Given the description of an element on the screen output the (x, y) to click on. 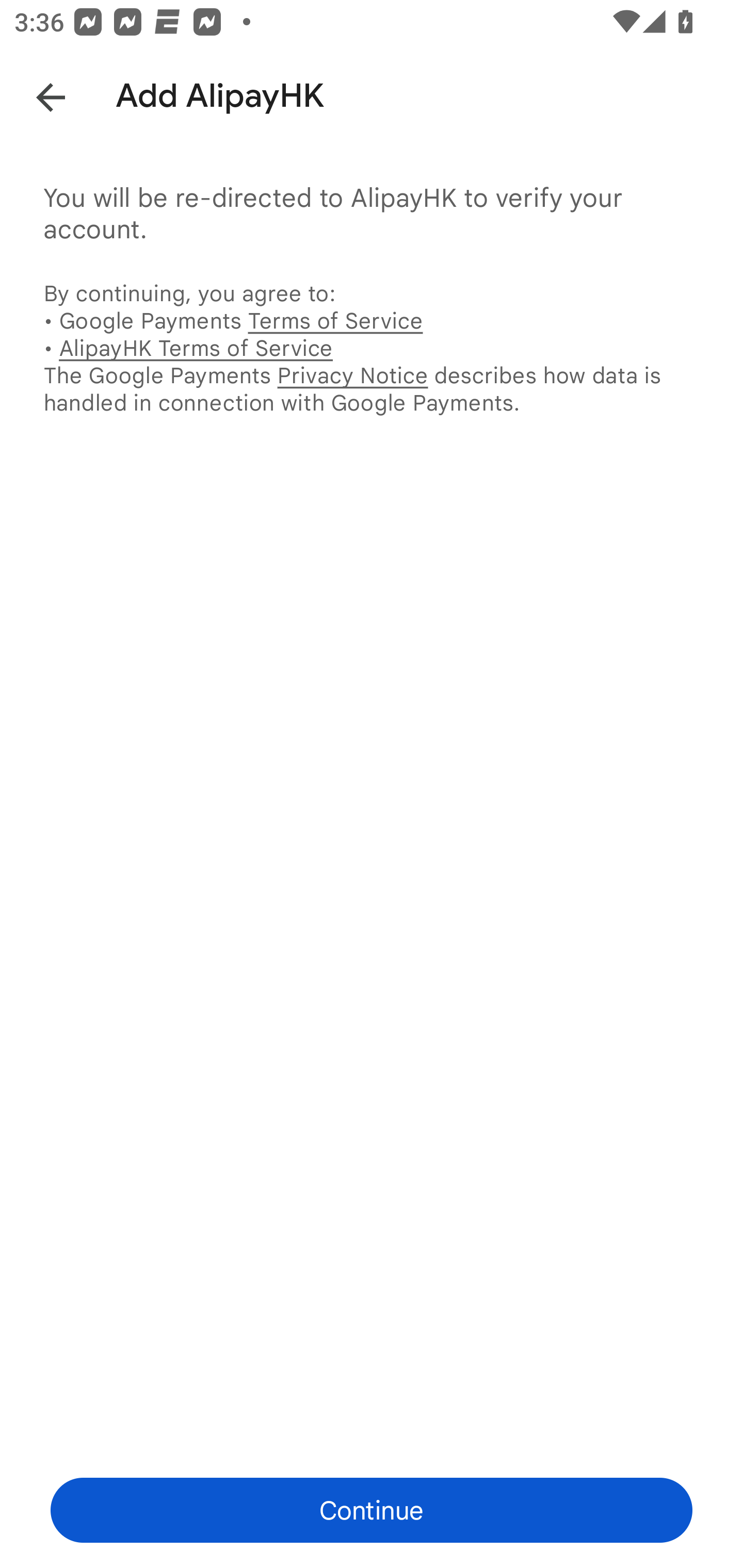
Back (36, 94)
Terms of Service (334, 320)
AlipayHK Terms of Service (195, 347)
Privacy Notice (352, 375)
Continue (371, 1510)
